Given the description of an element on the screen output the (x, y) to click on. 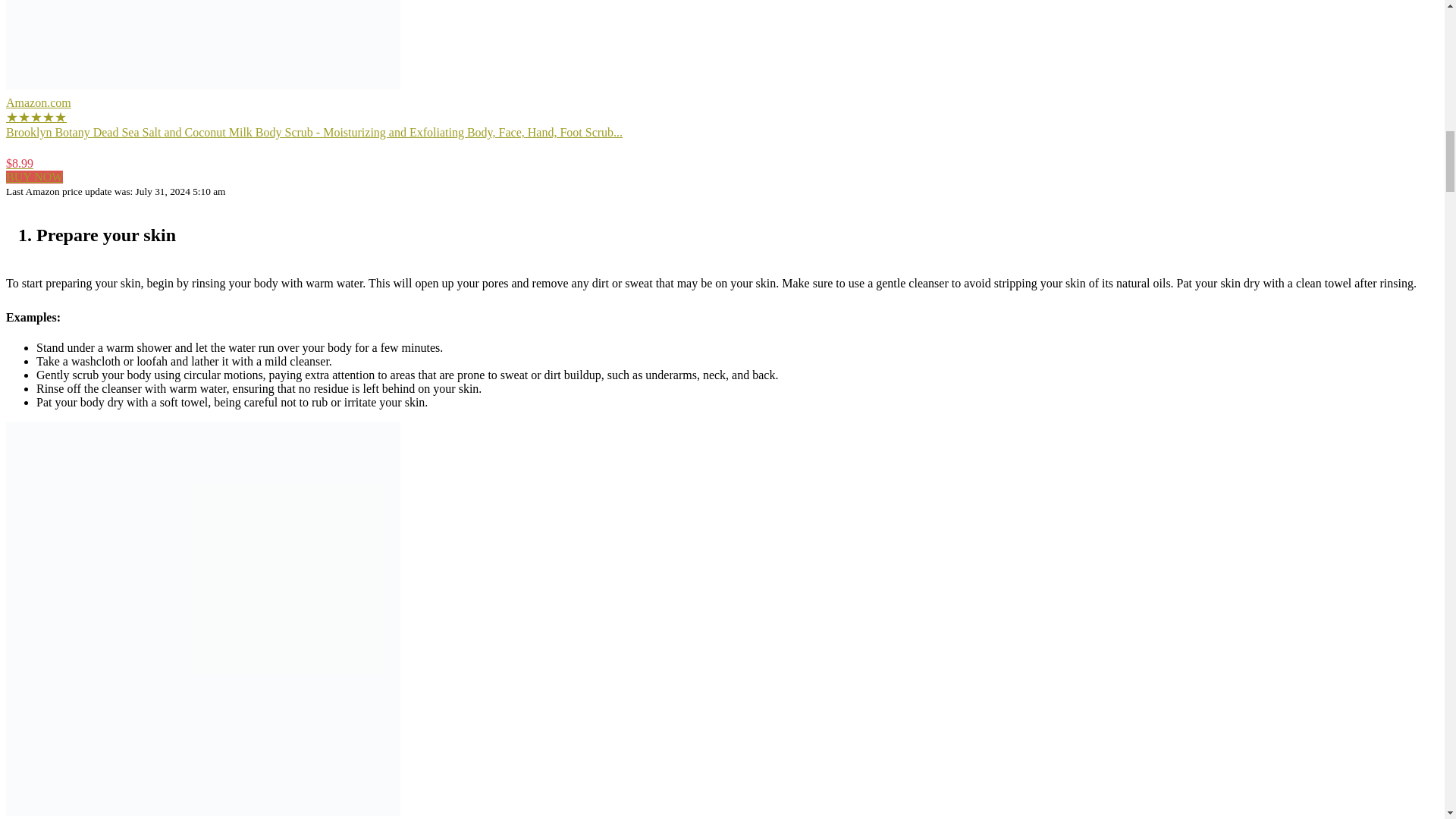
BUY NOW (33, 176)
